Given the description of an element on the screen output the (x, y) to click on. 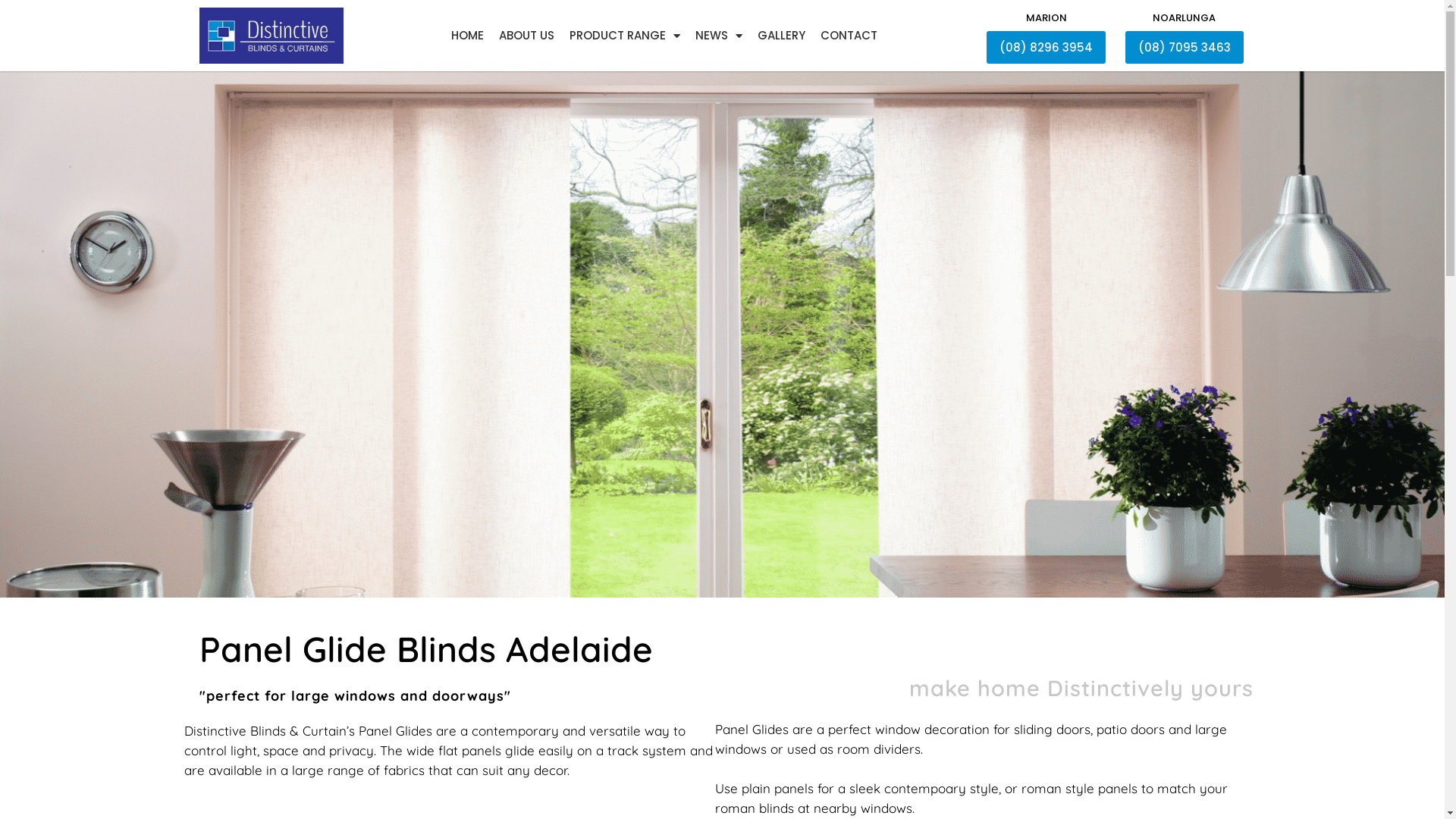
HOME Element type: text (466, 35)
NEWS Element type: text (718, 35)
ABOUT US Element type: text (526, 35)
(08) 7095 3463 Element type: text (1184, 47)
PRODUCT RANGE Element type: text (624, 35)
CONTACT Element type: text (848, 35)
(08) 8296 3954 Element type: text (1045, 47)
GALLERY Element type: text (780, 35)
